Given the description of an element on the screen output the (x, y) to click on. 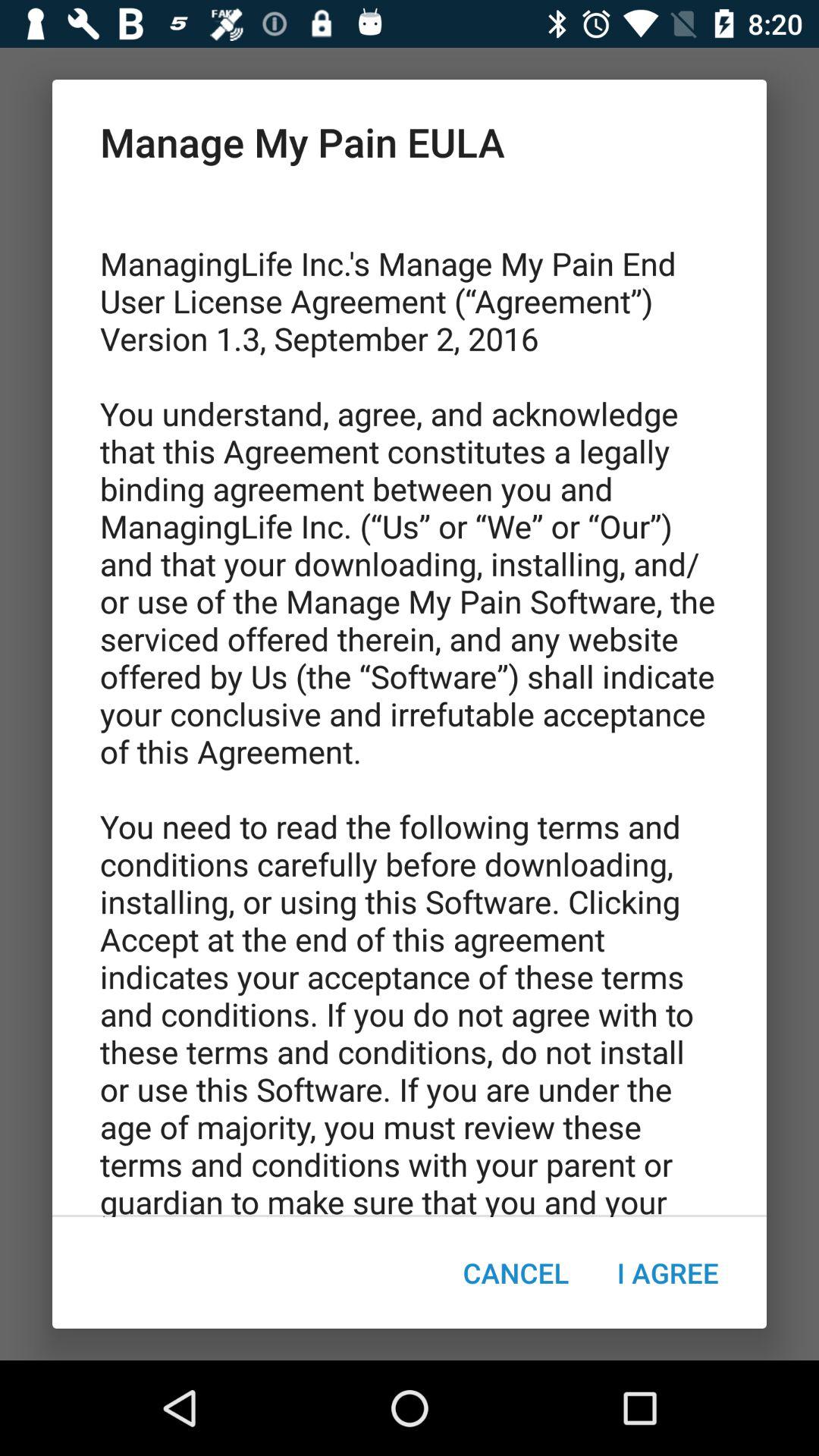
press the cancel button (516, 1272)
